Given the description of an element on the screen output the (x, y) to click on. 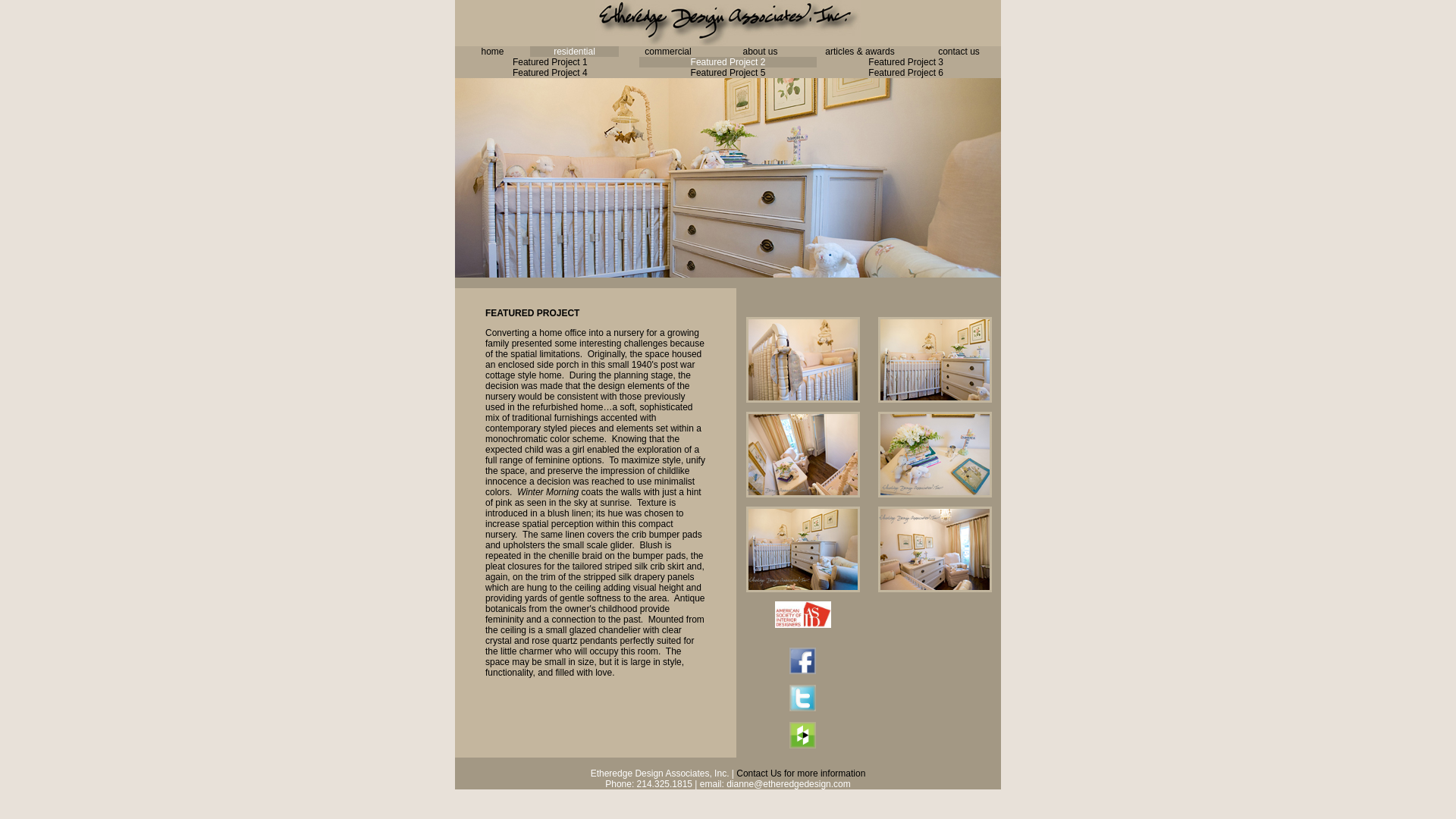
Contact Us for more information (800, 773)
contact us (958, 50)
Featured Project 6 (905, 72)
commercial (667, 50)
Featured Project 5 (727, 72)
home (491, 50)
Featured Project 1 (550, 61)
Featured Project 4 (550, 72)
Featured Project 3 (905, 61)
about us (759, 50)
